Given the description of an element on the screen output the (x, y) to click on. 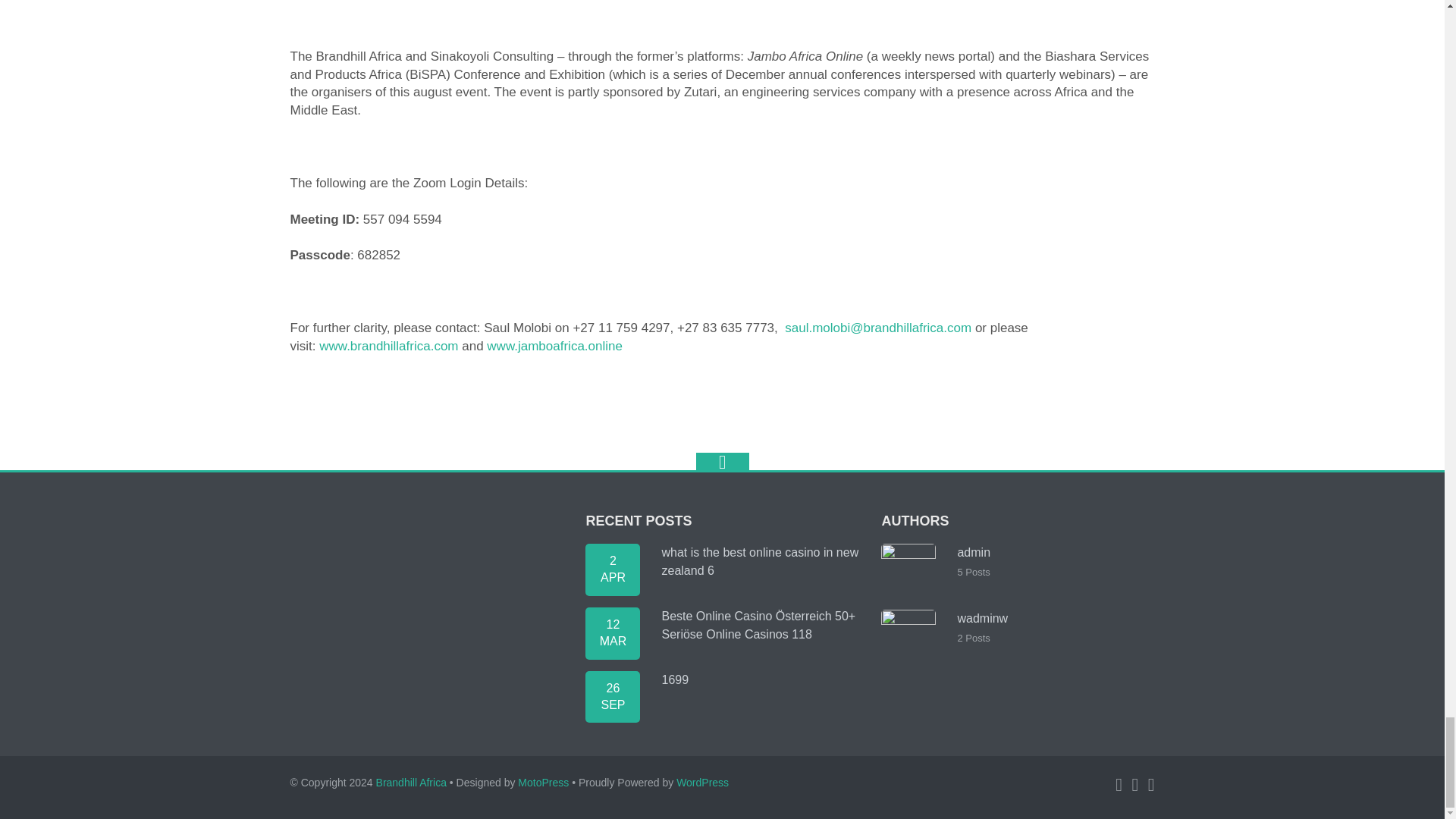
1699 (612, 696)
what is the best online casino in new zealand 6 (760, 561)
12 MAR (612, 633)
what is the best online casino in new zealand 6 (612, 569)
Premium WordPress Plugins and Themes (543, 782)
www.jamboafrica.online (554, 345)
Semantic Personal Publishing Platform (703, 782)
www.brandhillafrica.com (388, 345)
2 APR (612, 569)
Brandhill Africa (410, 782)
